Given the description of an element on the screen output the (x, y) to click on. 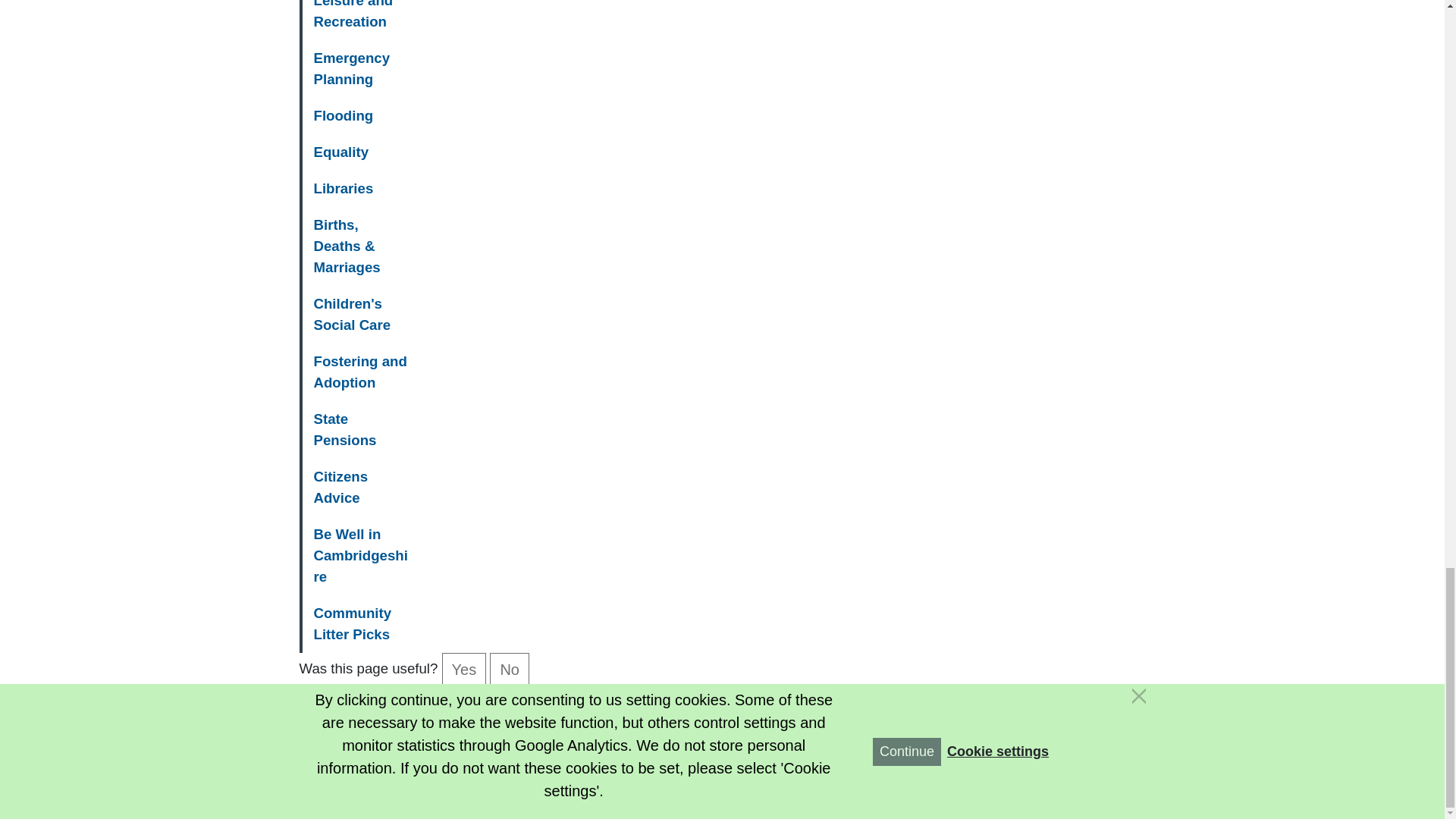
No (509, 669)
Yes (464, 669)
